Given the description of an element on the screen output the (x, y) to click on. 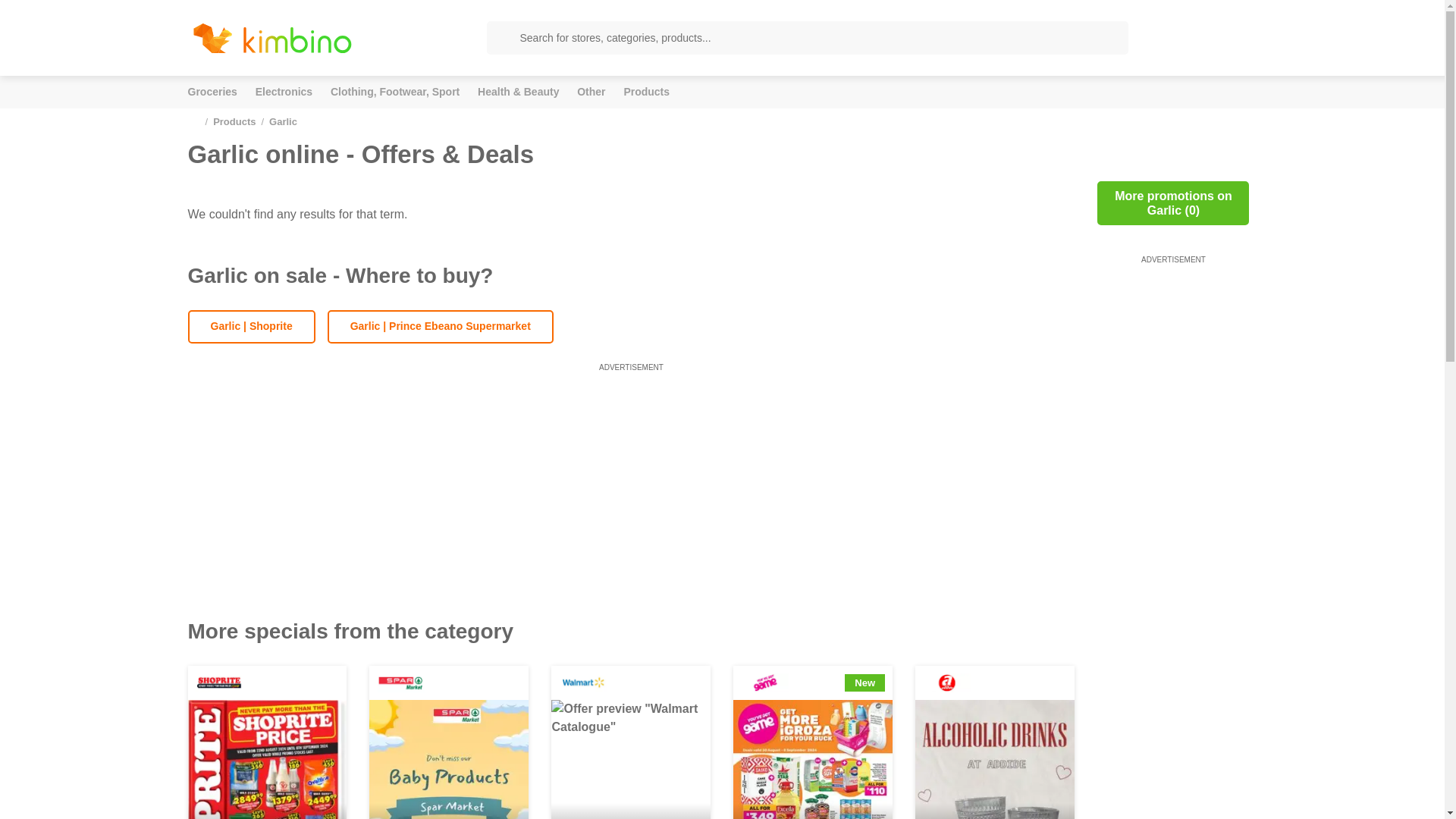
Products (234, 121)
Garlic (283, 121)
Clothing, Footwear, Sport (395, 92)
Search for stores, categories, products... (807, 37)
Offer preview "Spar Catalogue" (448, 759)
Shoprite catalogue (219, 682)
Spar catalogue (401, 682)
Walmart catalogue (583, 682)
Electronics (284, 92)
